Given the description of an element on the screen output the (x, y) to click on. 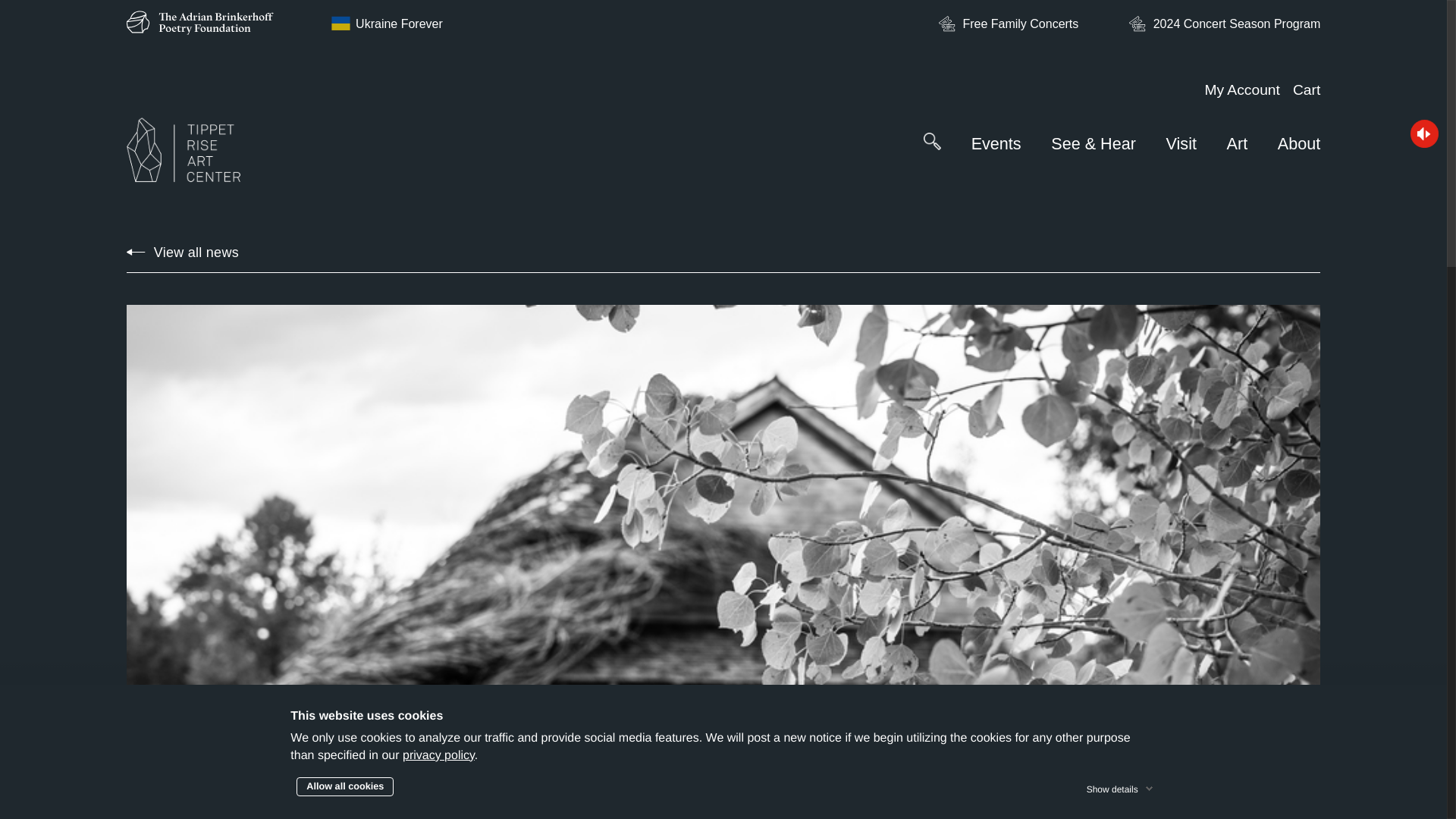
privacy policy (438, 755)
Show details (1121, 786)
Allow all cookies (345, 786)
